Given the description of an element on the screen output the (x, y) to click on. 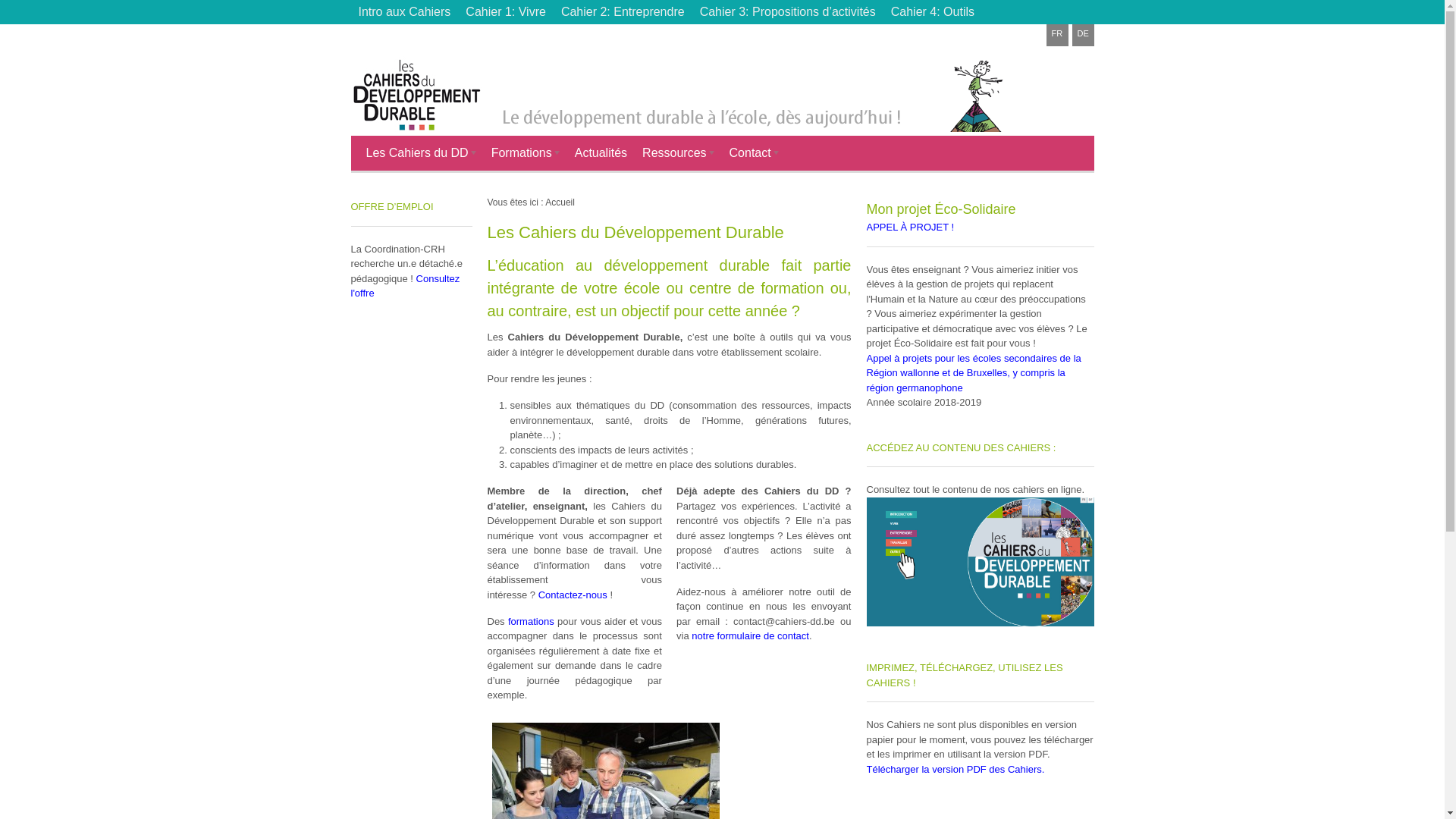
Contactez-nous Element type: text (572, 594)
Consultez l'offre Element type: text (404, 286)
Intro aux Cahiers Element type: text (404, 12)
DE Element type: text (1083, 35)
cahiers Element type: hover (979, 561)
Cahier 4: Outils Element type: text (932, 12)
notre formulaire de contact Element type: text (750, 635)
Cahier 1: Vivre Element type: text (505, 12)
formations Element type: text (531, 621)
FR Element type: text (1057, 35)
Cahier 2: Entreprendre Element type: text (622, 12)
